Given the description of an element on the screen output the (x, y) to click on. 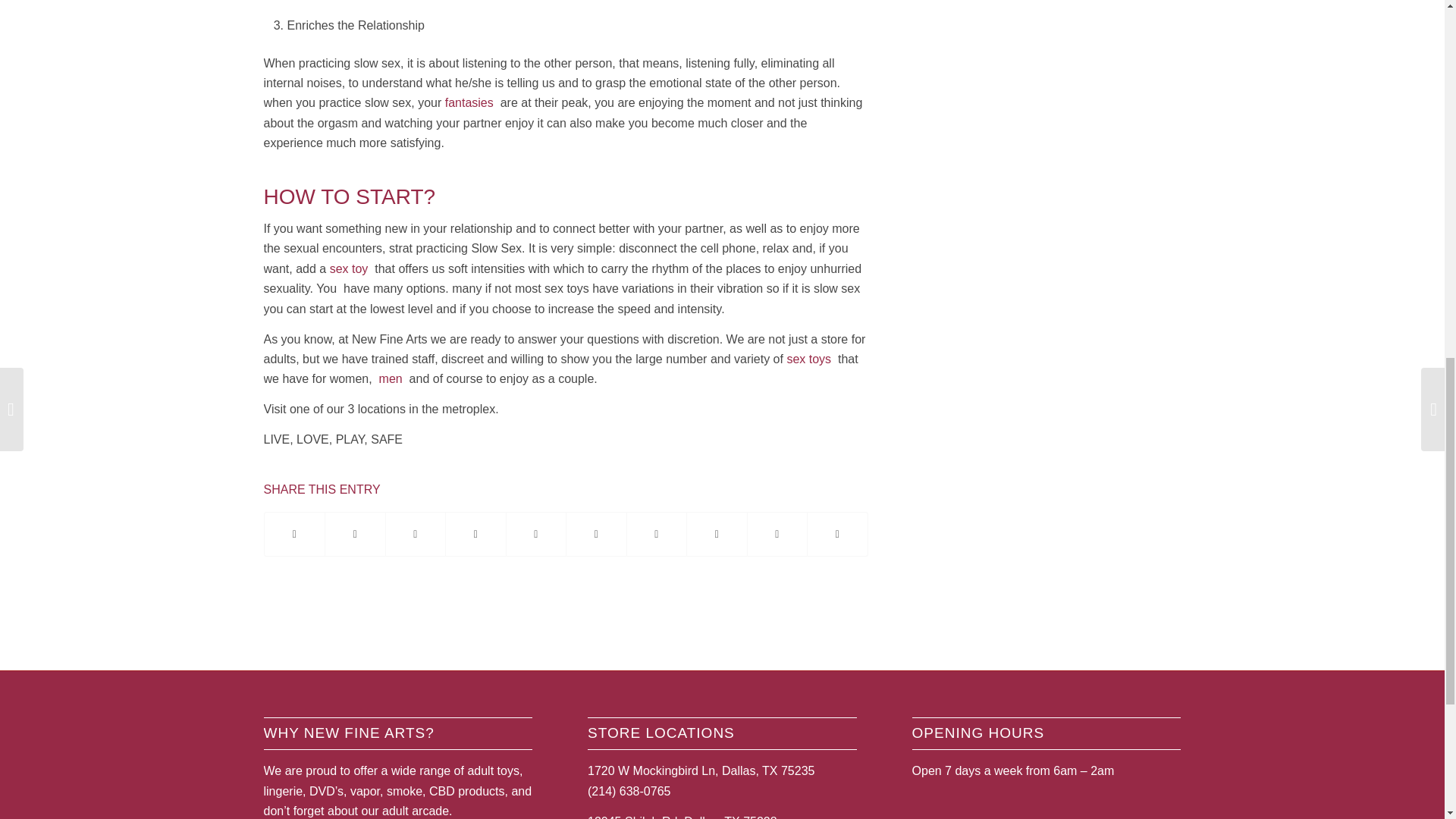
sex toys (808, 358)
men (390, 378)
fantasies (469, 102)
sex toy (349, 268)
